Given the description of an element on the screen output the (x, y) to click on. 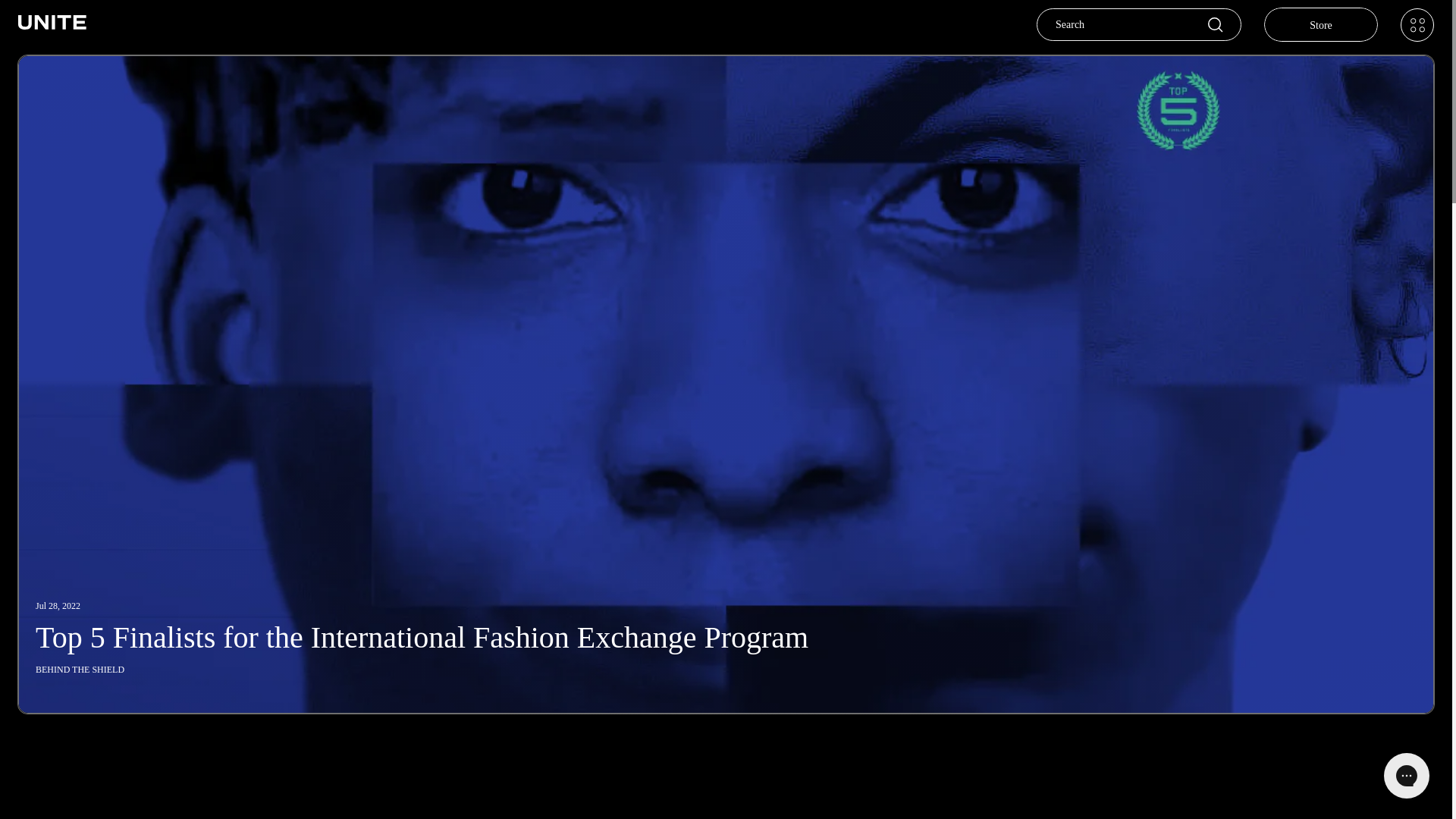
Gorgias live chat messenger (1406, 775)
Store (1320, 24)
